Given the description of an element on the screen output the (x, y) to click on. 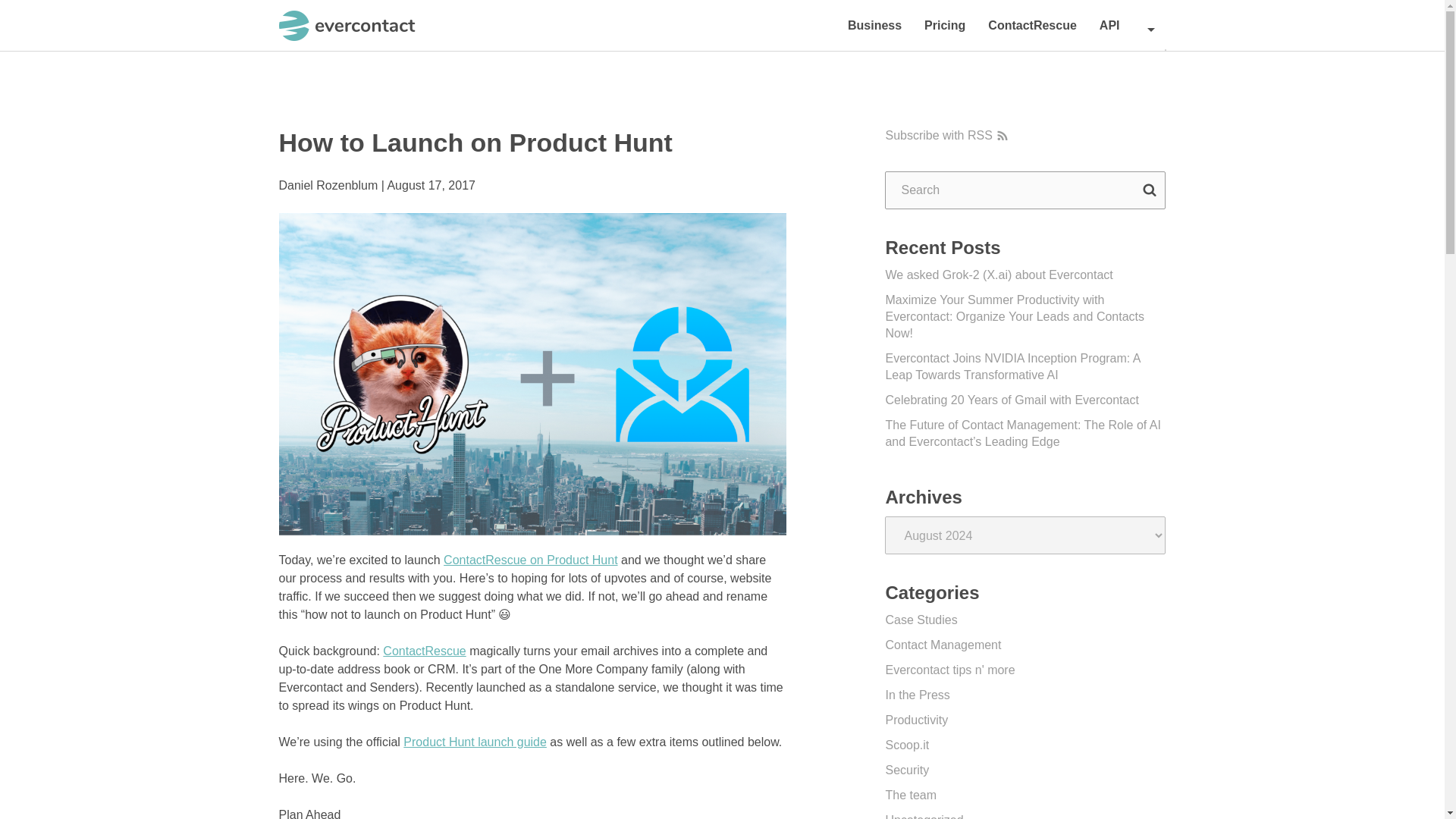
Case Studies (920, 619)
Productivity (916, 719)
Scoop.it (906, 744)
Pricing (944, 25)
Security (906, 769)
Contact Management (943, 644)
ContactRescue (1031, 25)
Celebrating 20 Years of Gmail with Evercontact (1011, 399)
ContactRescue on Product Hunt (530, 559)
